Given the description of an element on the screen output the (x, y) to click on. 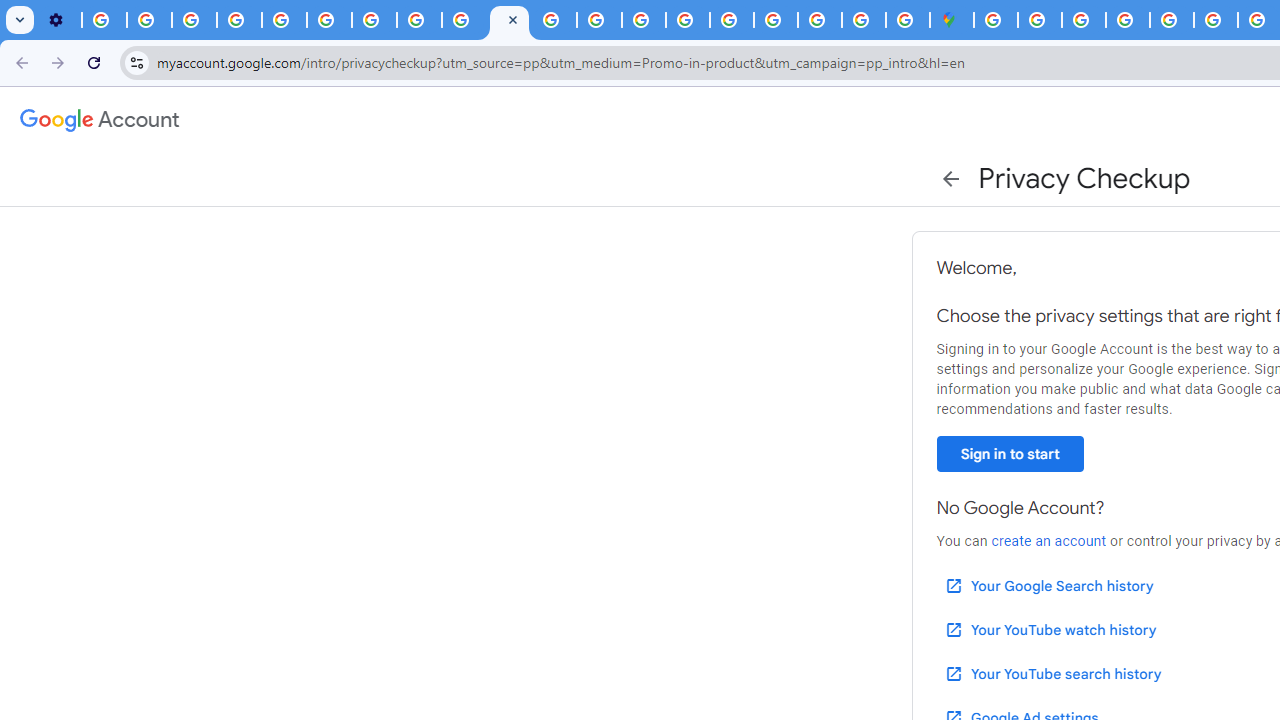
Google Maps (952, 20)
Your YouTube search history (1052, 673)
Sign in - Google Accounts (995, 20)
Settings - Customize profile (59, 20)
Sign in to start (1009, 454)
https://scholar.google.com/ (554, 20)
Google Account settings (100, 120)
